Given the description of an element on the screen output the (x, y) to click on. 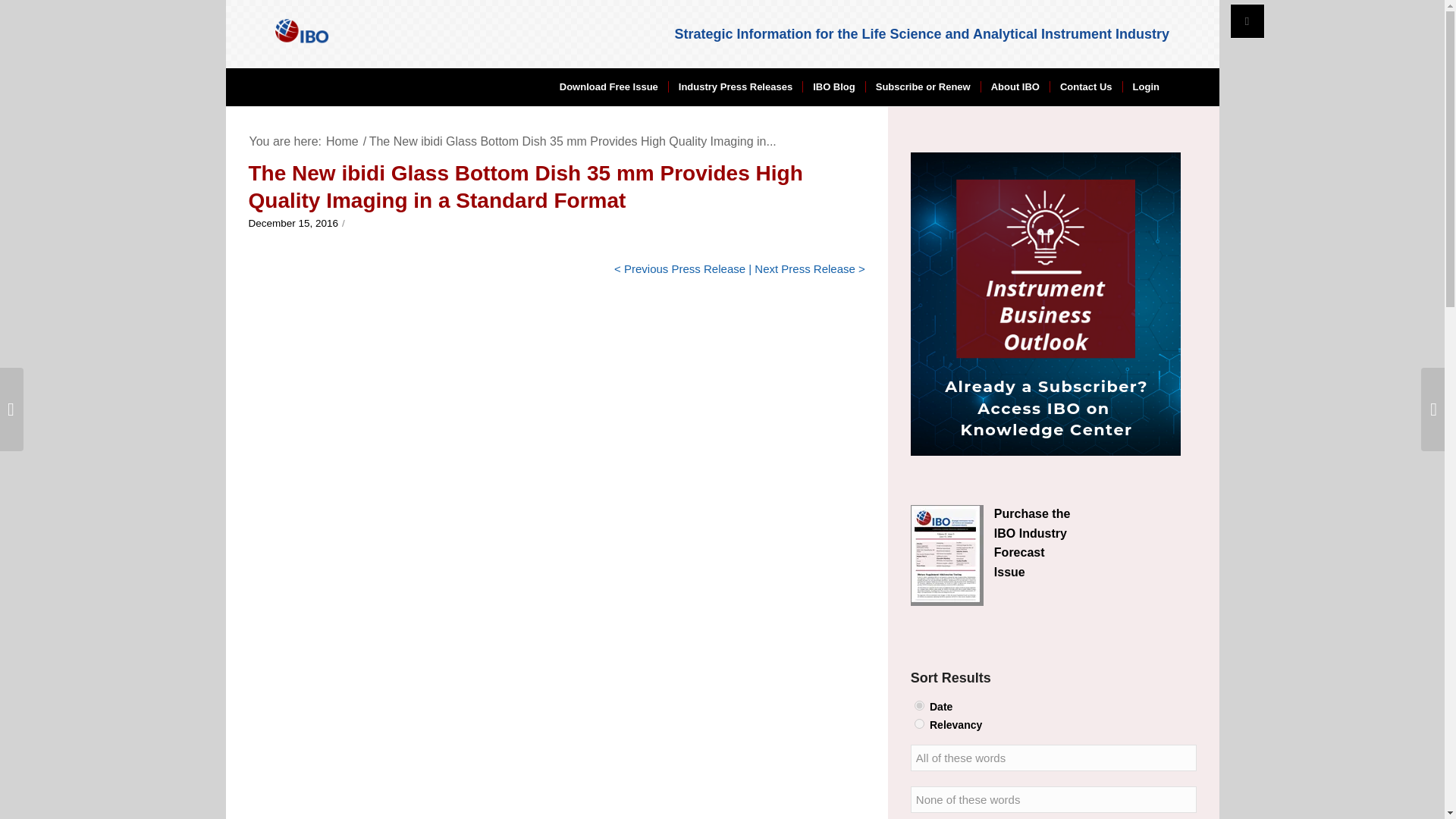
IBO Blog (833, 86)
Previous Press Release (684, 268)
Next Press Release (805, 268)
relevancy (919, 723)
Industry Press Releases (735, 86)
Home (342, 141)
relevancy (919, 723)
date (919, 705)
date (919, 705)
Download Free Issue (609, 86)
